Given the description of an element on the screen output the (x, y) to click on. 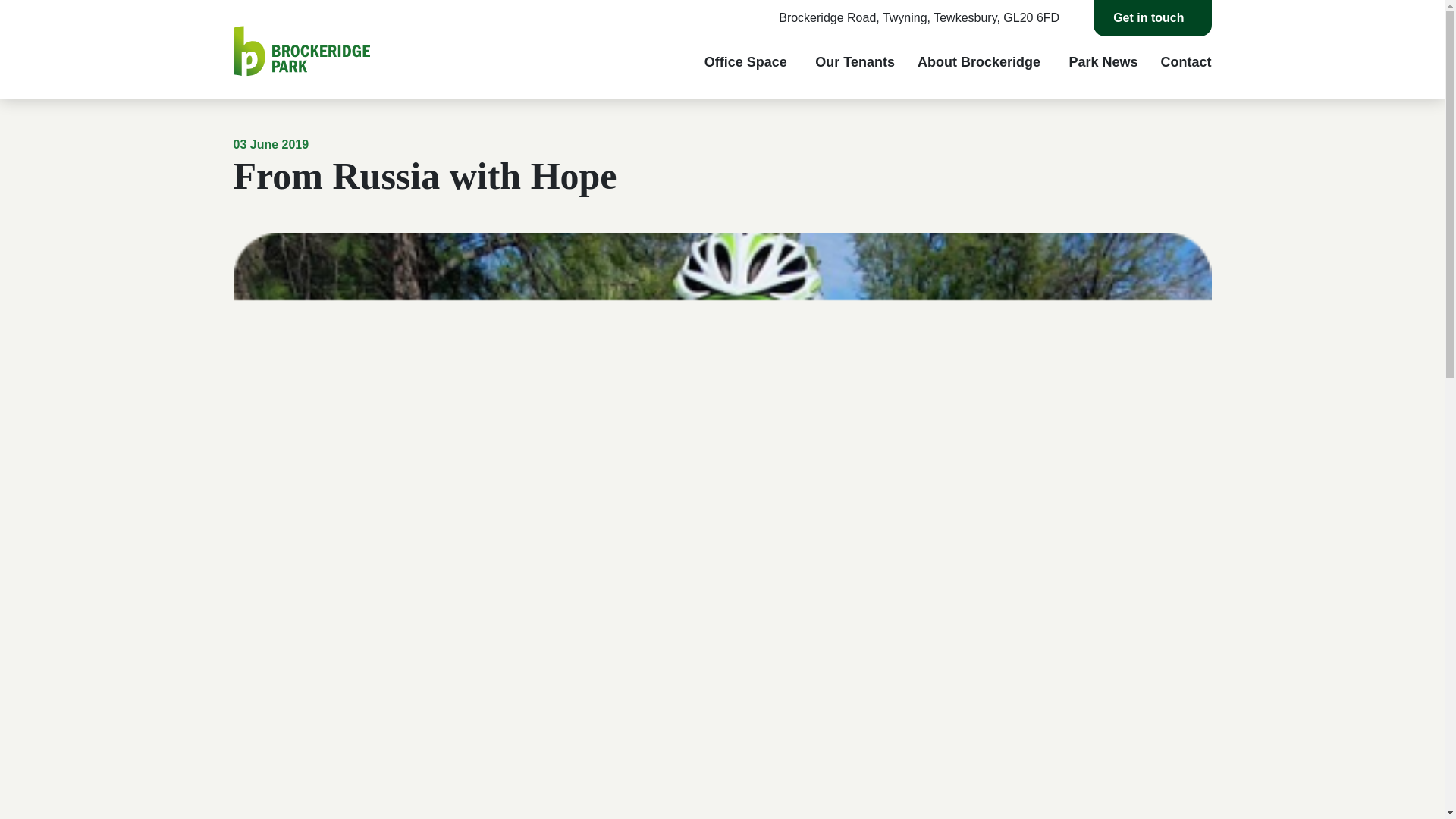
Our Tenants (855, 61)
Get in touch (1152, 18)
Park News (1102, 61)
Contact (1185, 61)
